Given the description of an element on the screen output the (x, y) to click on. 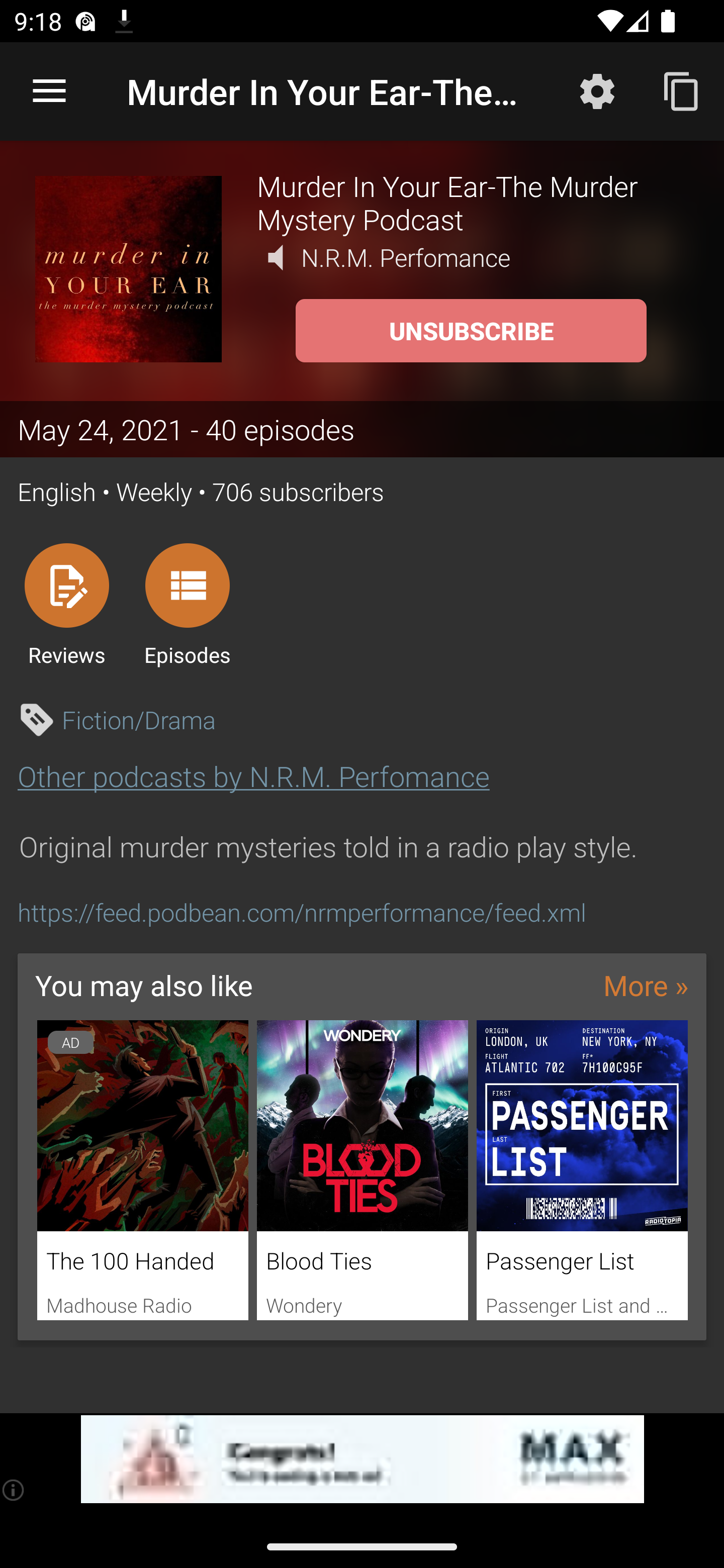
Open navigation sidebar (49, 91)
Settings (597, 90)
Copy feed url to clipboard (681, 90)
Murder In Your Ear-The Murder Mystery Podcast (472, 202)
UNSUBSCRIBE (470, 330)
Reviews (66, 604)
Episodes (187, 604)
Other podcasts by N.R.M. Perfomance (253, 775)
More » (645, 984)
AD The 100 Handed Madhouse Radio (142, 1170)
Blood Ties Wondery (362, 1170)
Passenger List Passenger List and Radiotopia (581, 1170)
app-monetization (362, 1459)
(i) (14, 1489)
